Given the description of an element on the screen output the (x, y) to click on. 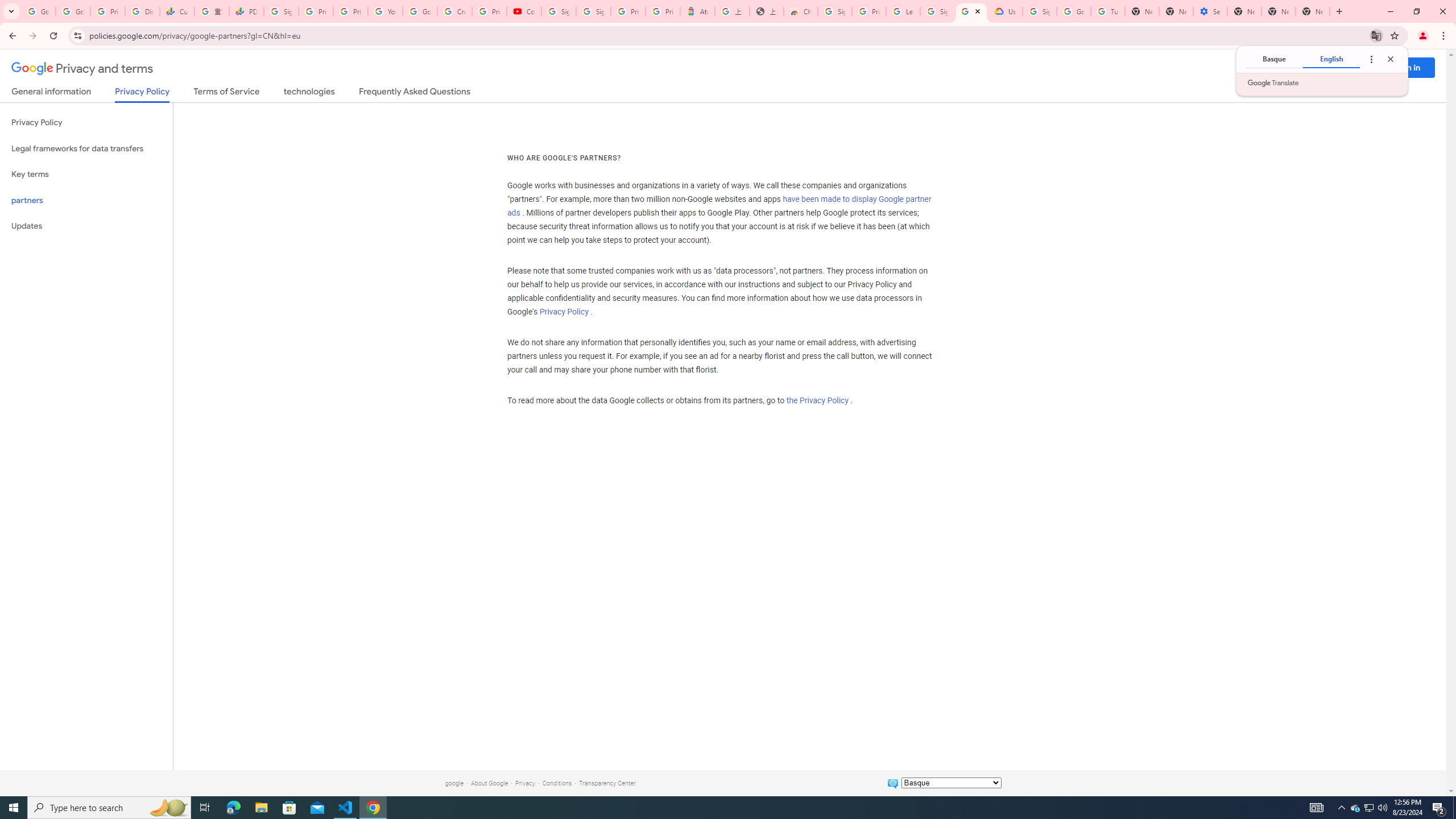
Running applications (717, 807)
